Given the description of an element on the screen output the (x, y) to click on. 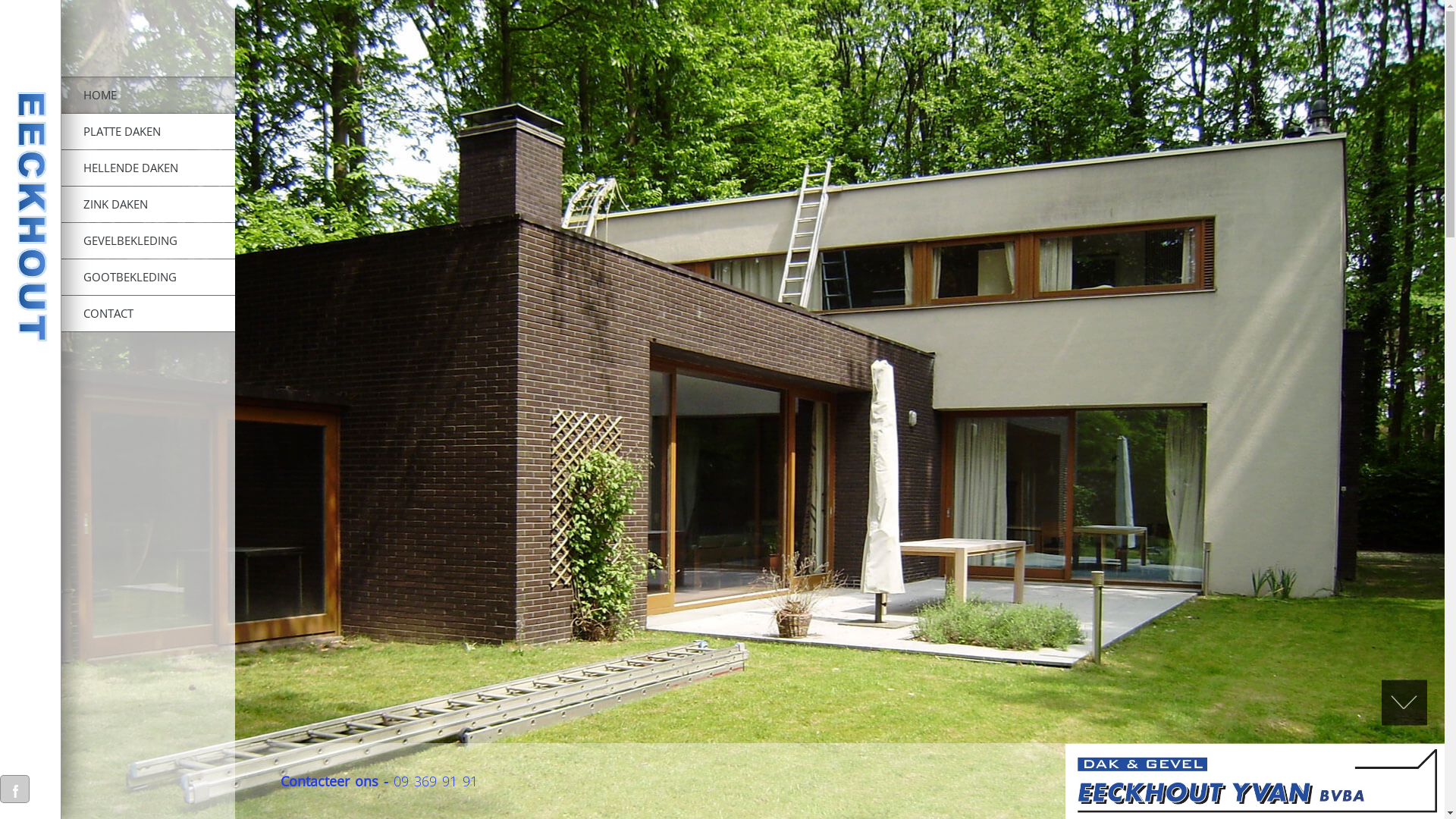
Eeckhout Yvan BVBA Element type: hover (30, 217)
Facebook Element type: hover (14, 789)
HELLENDE DAKEN Element type: text (147, 167)
HOME Element type: text (147, 94)
GEVELBEKLEDING Element type: text (147, 240)
GOOTBEKLEDING Element type: text (147, 276)
CONTACT Element type: text (147, 313)
PLATTE DAKEN Element type: text (147, 131)
ZINK DAKEN Element type: text (147, 204)
